Given the description of an element on the screen output the (x, y) to click on. 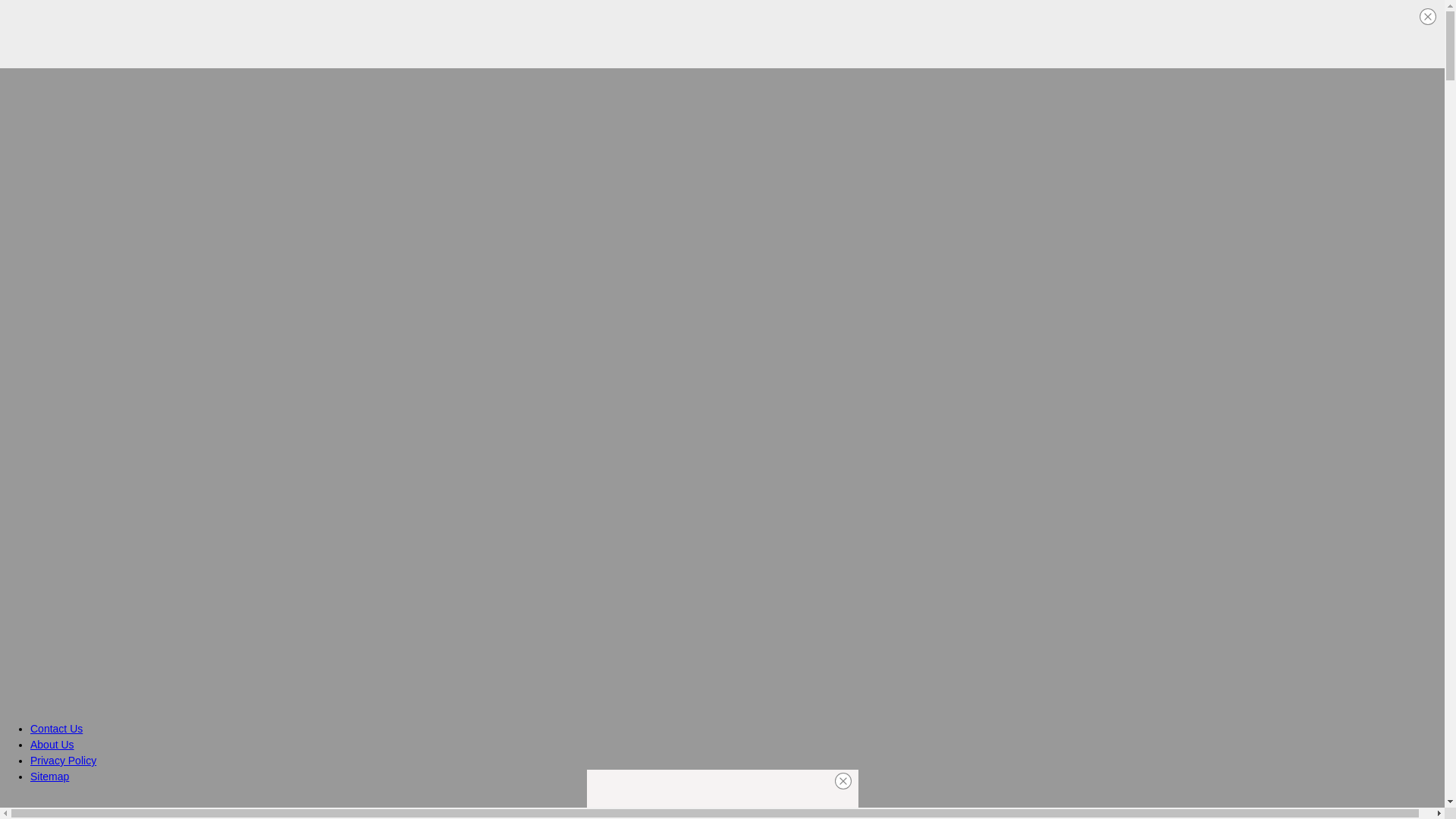
3rd party ad content (721, 33)
Where Facts Are Born (103, 807)
